Given the description of an element on the screen output the (x, y) to click on. 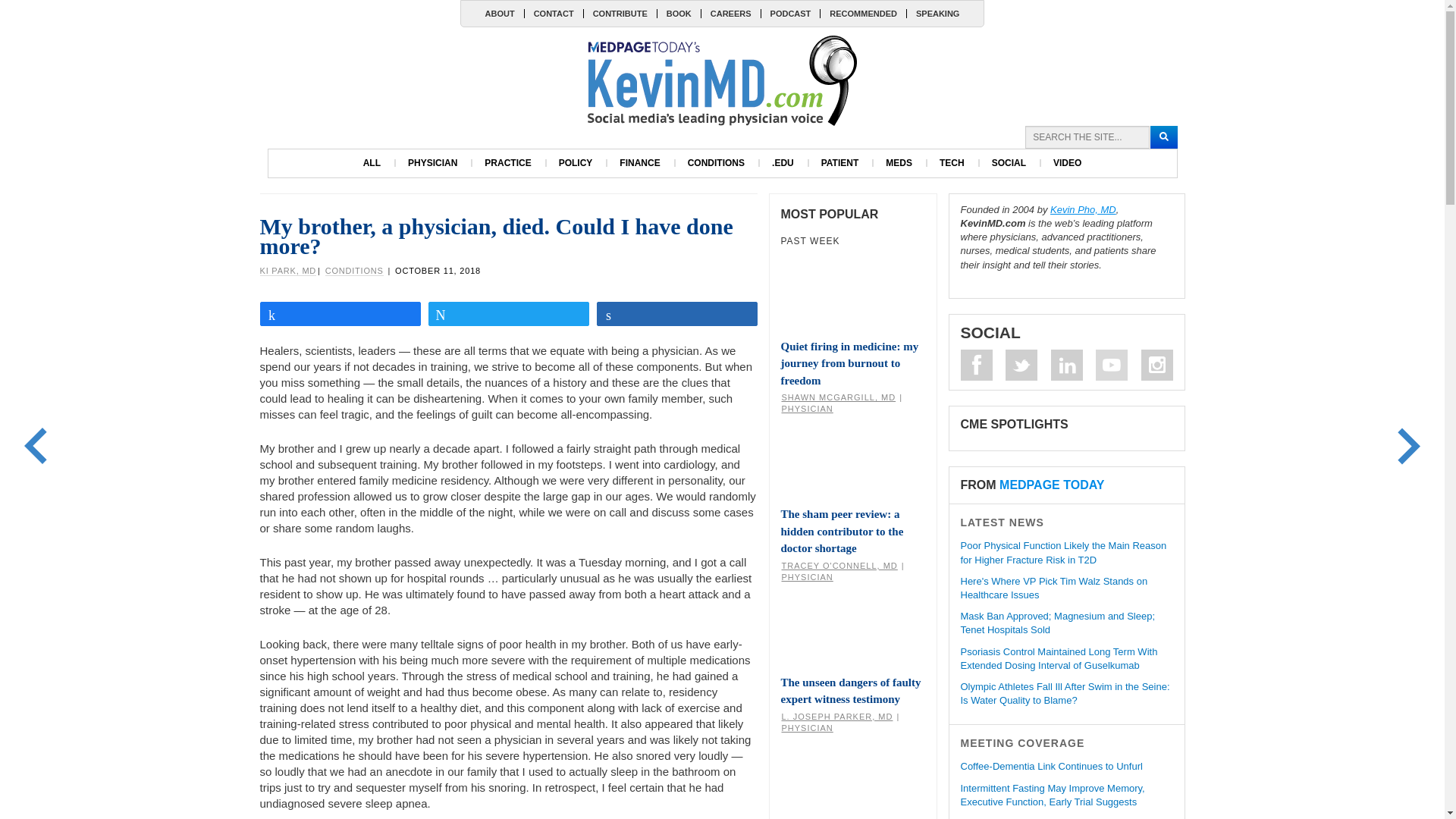
CONTRIBUTE (619, 13)
POLICY (575, 163)
ALL (371, 163)
CAREERS (730, 13)
.EDU (783, 163)
VIDEO (1066, 163)
PHYSICIAN (432, 163)
RECOMMENDED (862, 13)
ABOUT (500, 13)
PATIENT (840, 163)
